Given the description of an element on the screen output the (x, y) to click on. 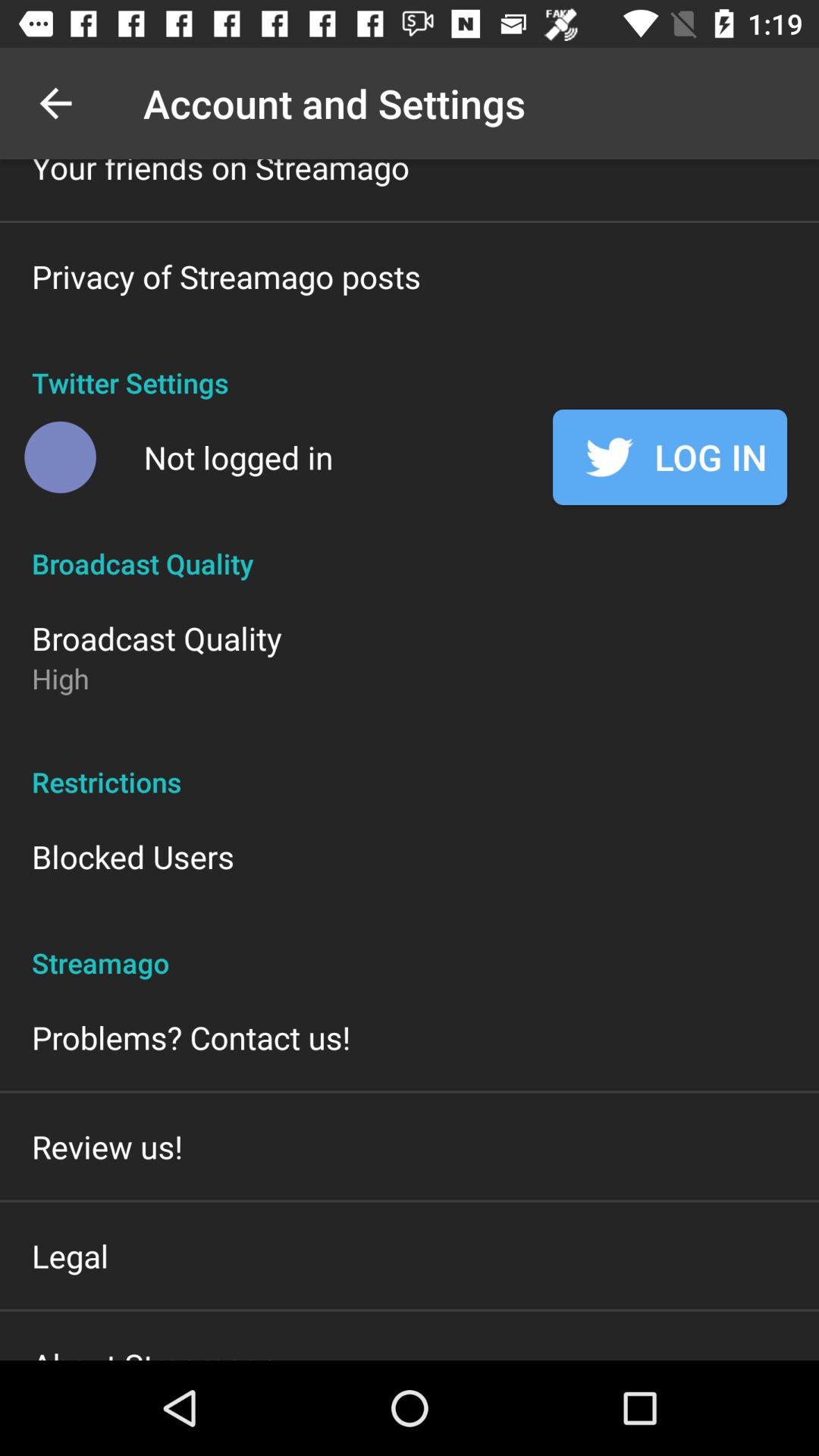
turn off the item to the left of account and settings icon (55, 103)
